Given the description of an element on the screen output the (x, y) to click on. 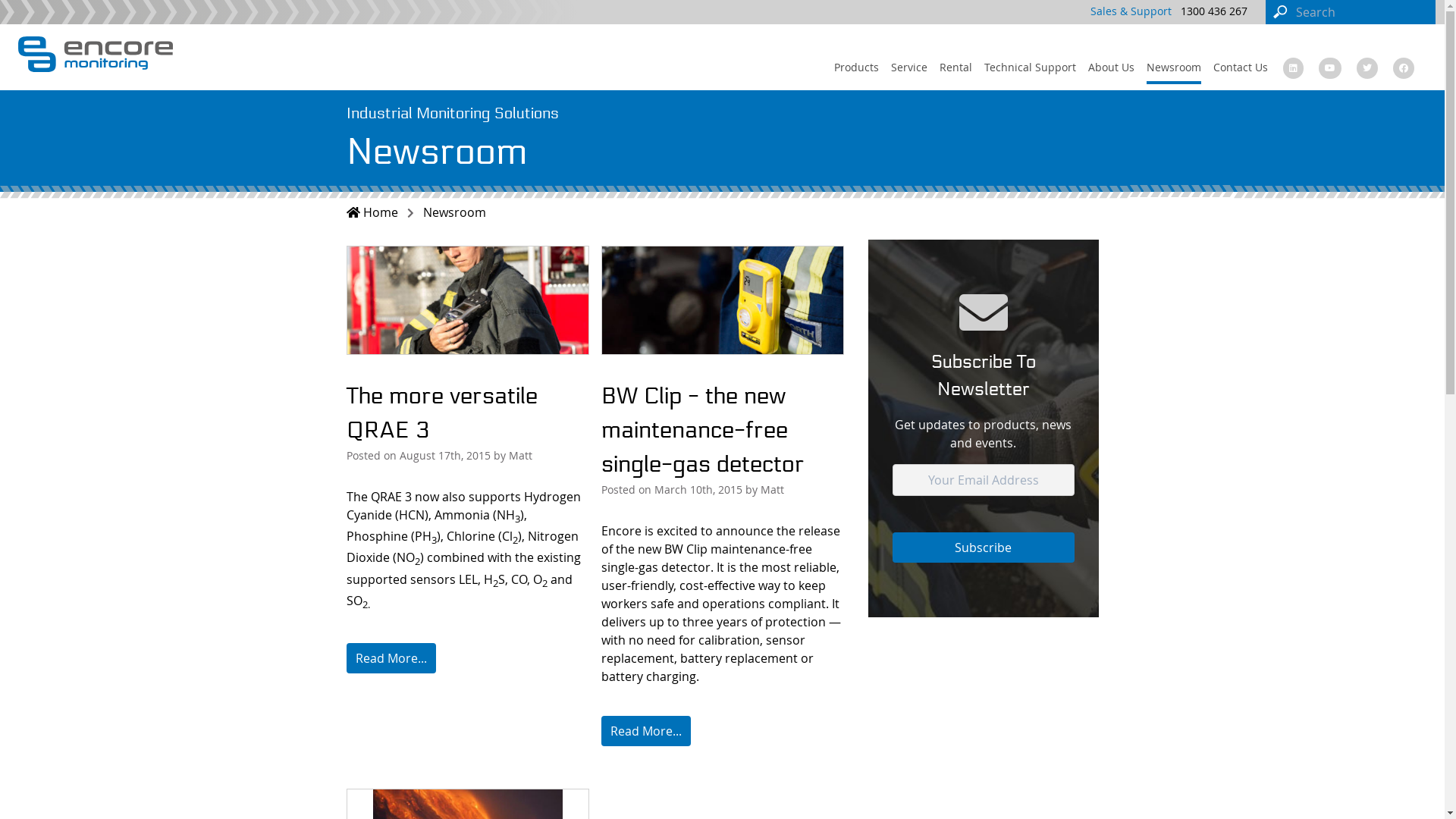
Technical Support Element type: text (1030, 68)
Subscribe Element type: text (982, 547)
Rental Element type: text (955, 68)
Service Element type: text (909, 68)
About Us Element type: text (1111, 68)
Newsroom Element type: text (453, 211)
Contact Us Element type: text (1240, 68)
1300 436 267 Element type: text (1213, 10)
BW Clip - the new maintenance-free single-gas detector Element type: text (701, 429)
Read More... Element type: text (645, 730)
Read More... Element type: text (390, 658)
Products Element type: text (856, 68)
Home Element type: text (379, 211)
Newsroom Element type: text (1173, 68)
The more versatile QRAE 3 Element type: text (440, 412)
